Given the description of an element on the screen output the (x, y) to click on. 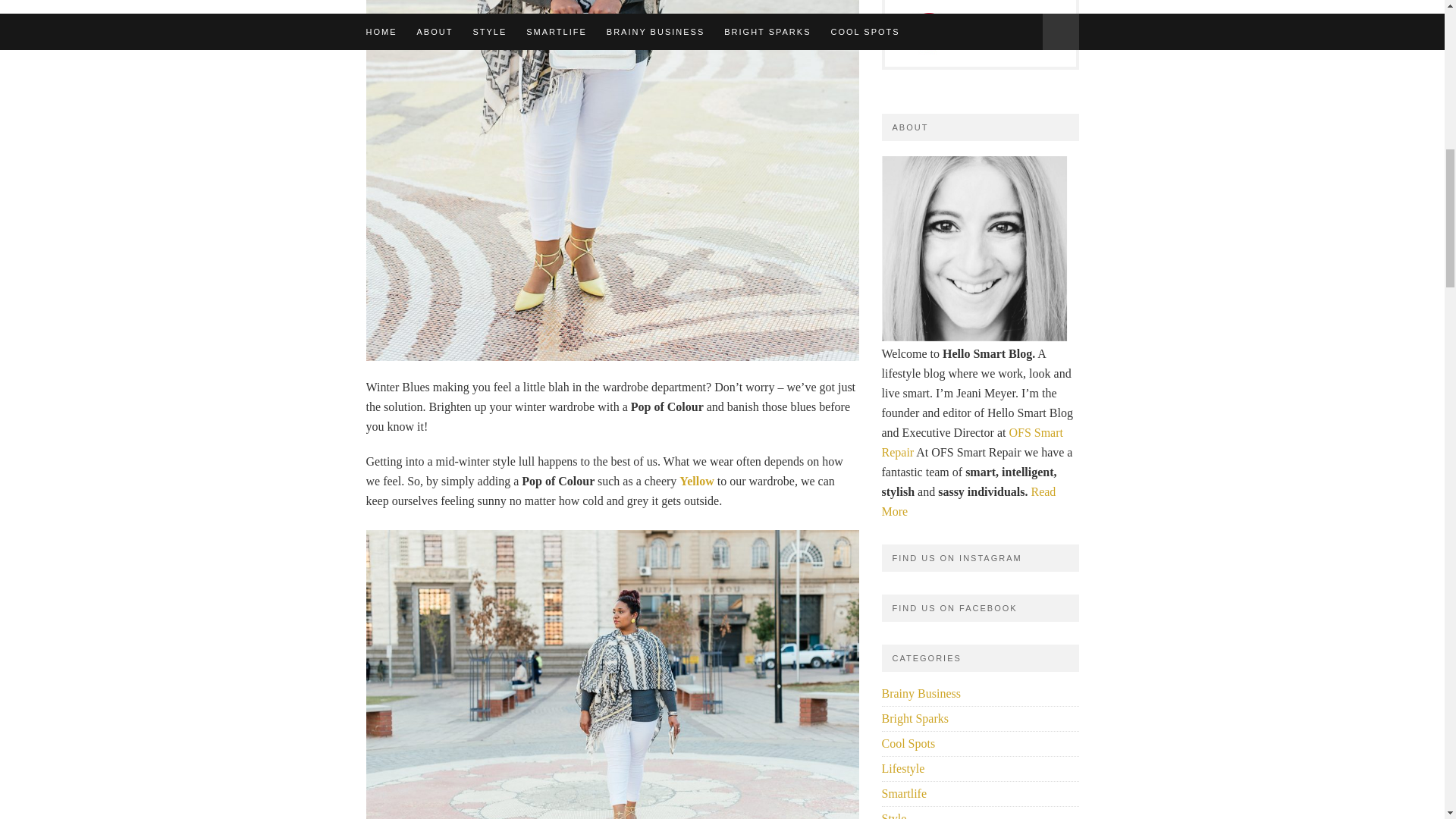
Yellow (697, 481)
